Given the description of an element on the screen output the (x, y) to click on. 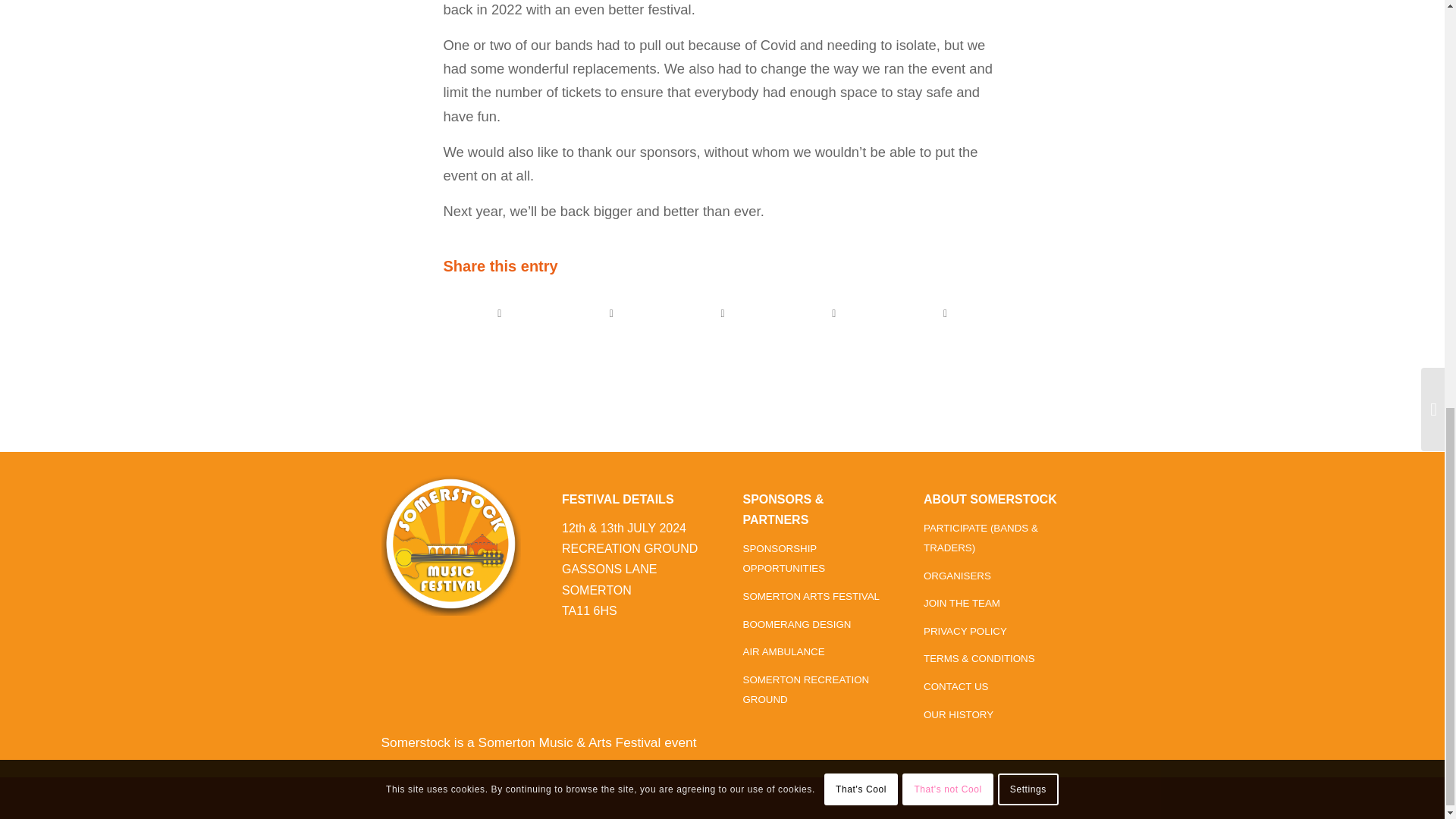
SPONSORSHIP OPPORTUNITIES (783, 558)
BOOMERANG DESIGN (796, 624)
JOIN THE TEAM (961, 603)
ORGANISERS (957, 575)
OUR HISTORY (957, 715)
SOMERTON ARTS FESTIVAL (810, 595)
PRIVACY POLICY (965, 631)
CONTACT US (955, 686)
AIR AMBULANCE (783, 651)
